Given the description of an element on the screen output the (x, y) to click on. 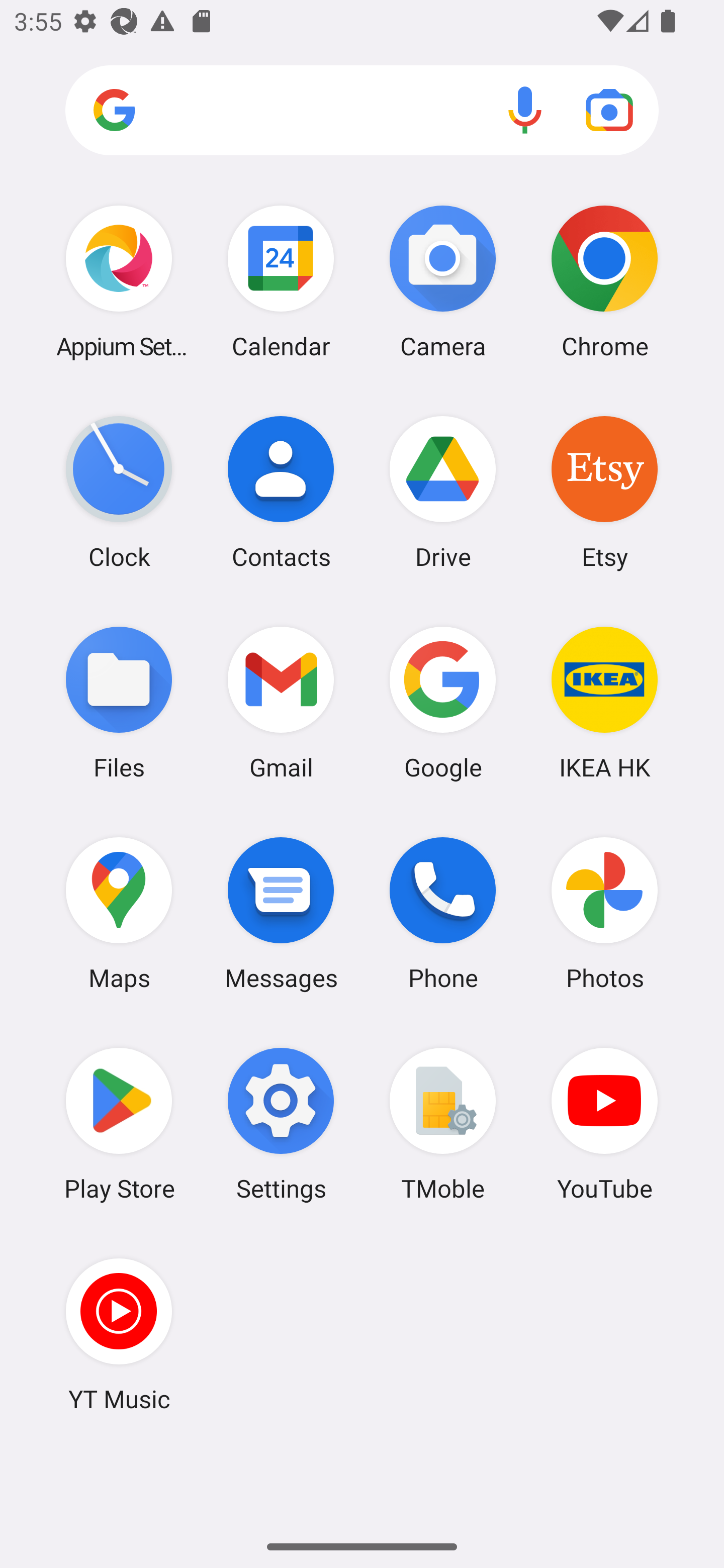
Search apps, web and more (361, 110)
Voice search (524, 109)
Google Lens (608, 109)
Appium Settings (118, 281)
Calendar (280, 281)
Camera (443, 281)
Chrome (604, 281)
Clock (118, 492)
Contacts (280, 492)
Drive (443, 492)
Etsy (604, 492)
Files (118, 702)
Gmail (280, 702)
Google (443, 702)
IKEA HK (604, 702)
Maps (118, 913)
Messages (280, 913)
Phone (443, 913)
Photos (604, 913)
Play Store (118, 1124)
Settings (280, 1124)
TMoble (443, 1124)
YouTube (604, 1124)
YT Music (118, 1334)
